Given the description of an element on the screen output the (x, y) to click on. 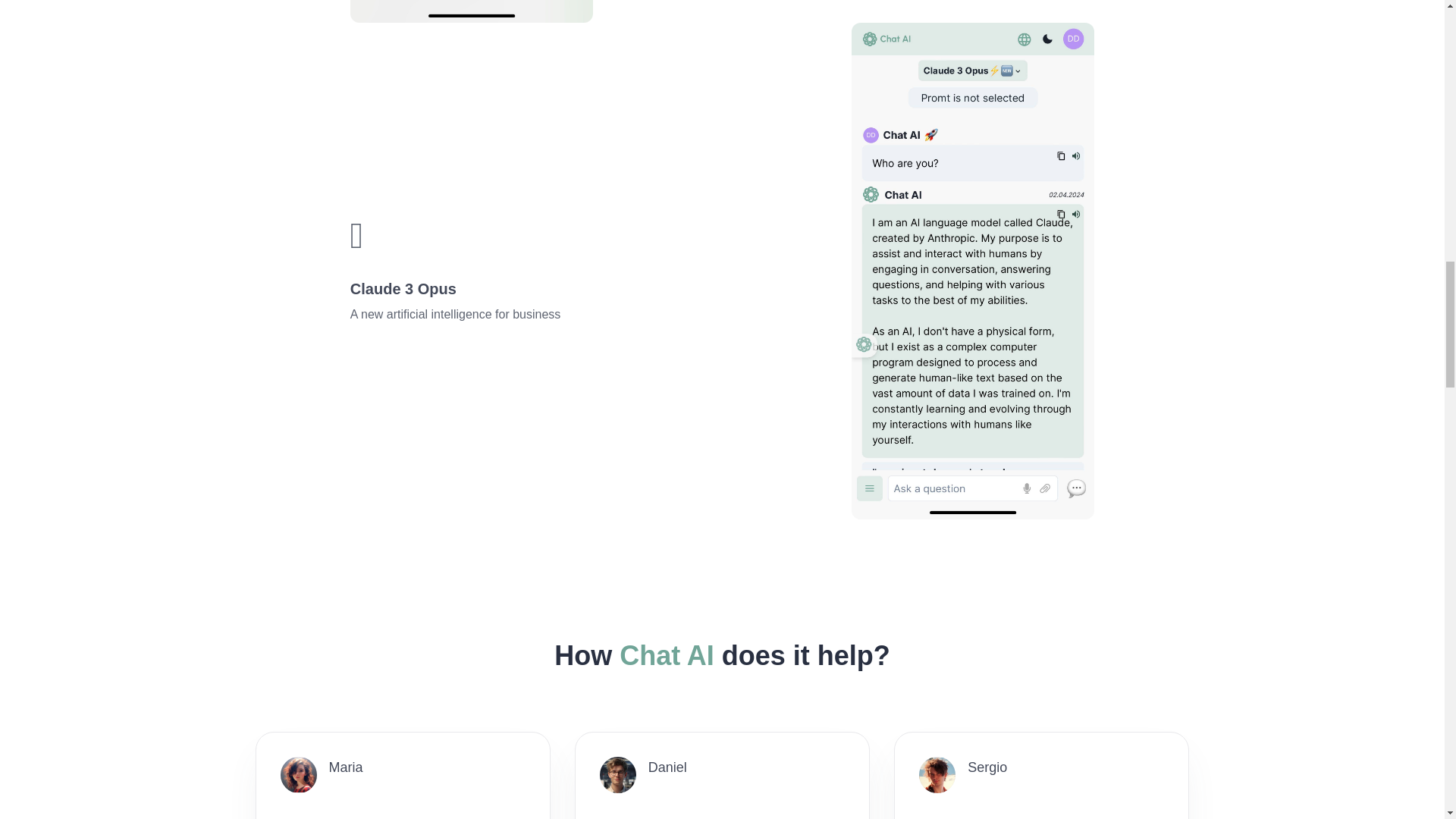
Latest Updates (721, 617)
